Given the description of an element on the screen output the (x, y) to click on. 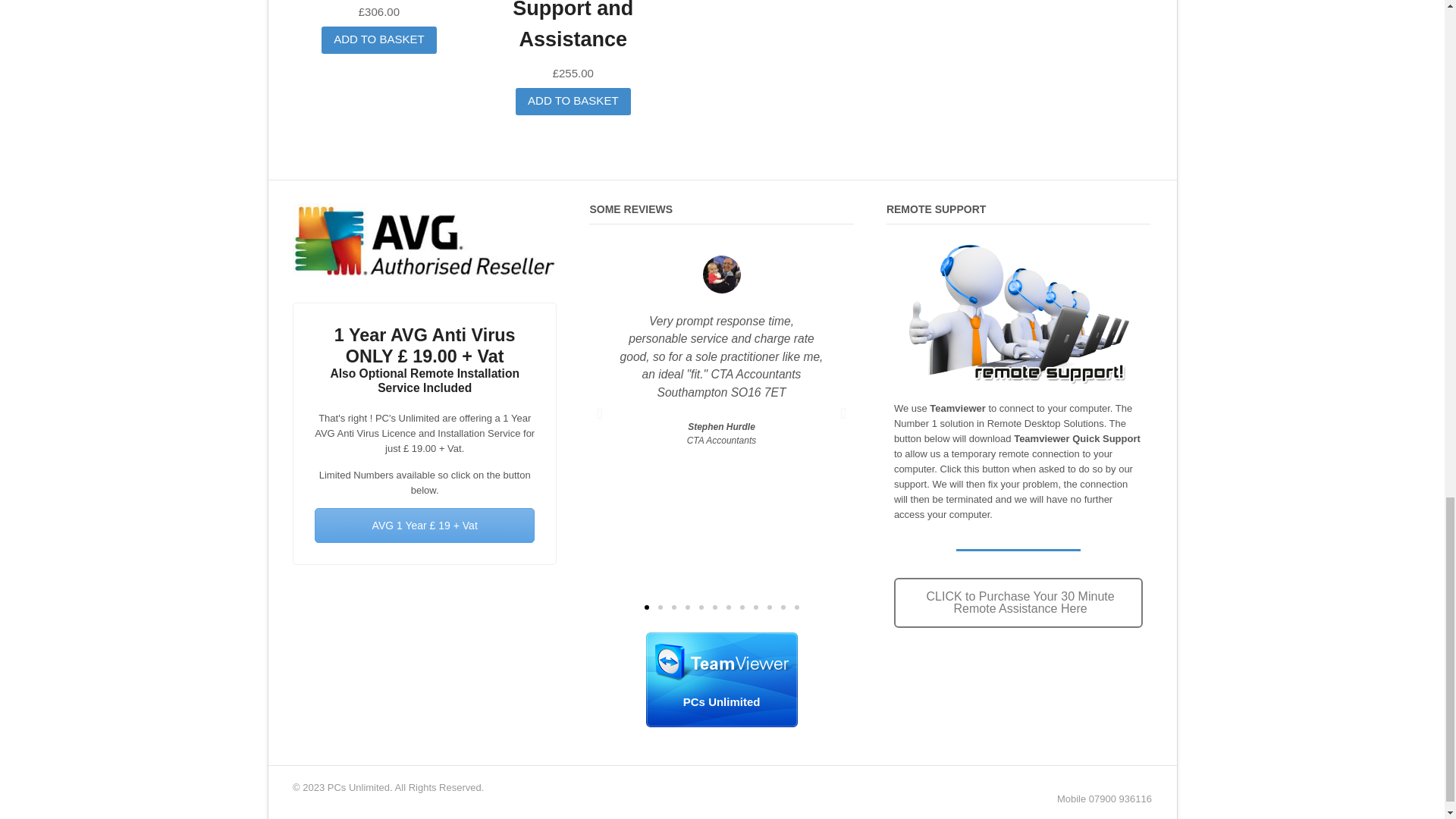
ADD TO BASKET (572, 101)
Remote Access and Support over the Internet with TeamViewer (721, 679)
ADD TO BASKET (378, 40)
